Given the description of an element on the screen output the (x, y) to click on. 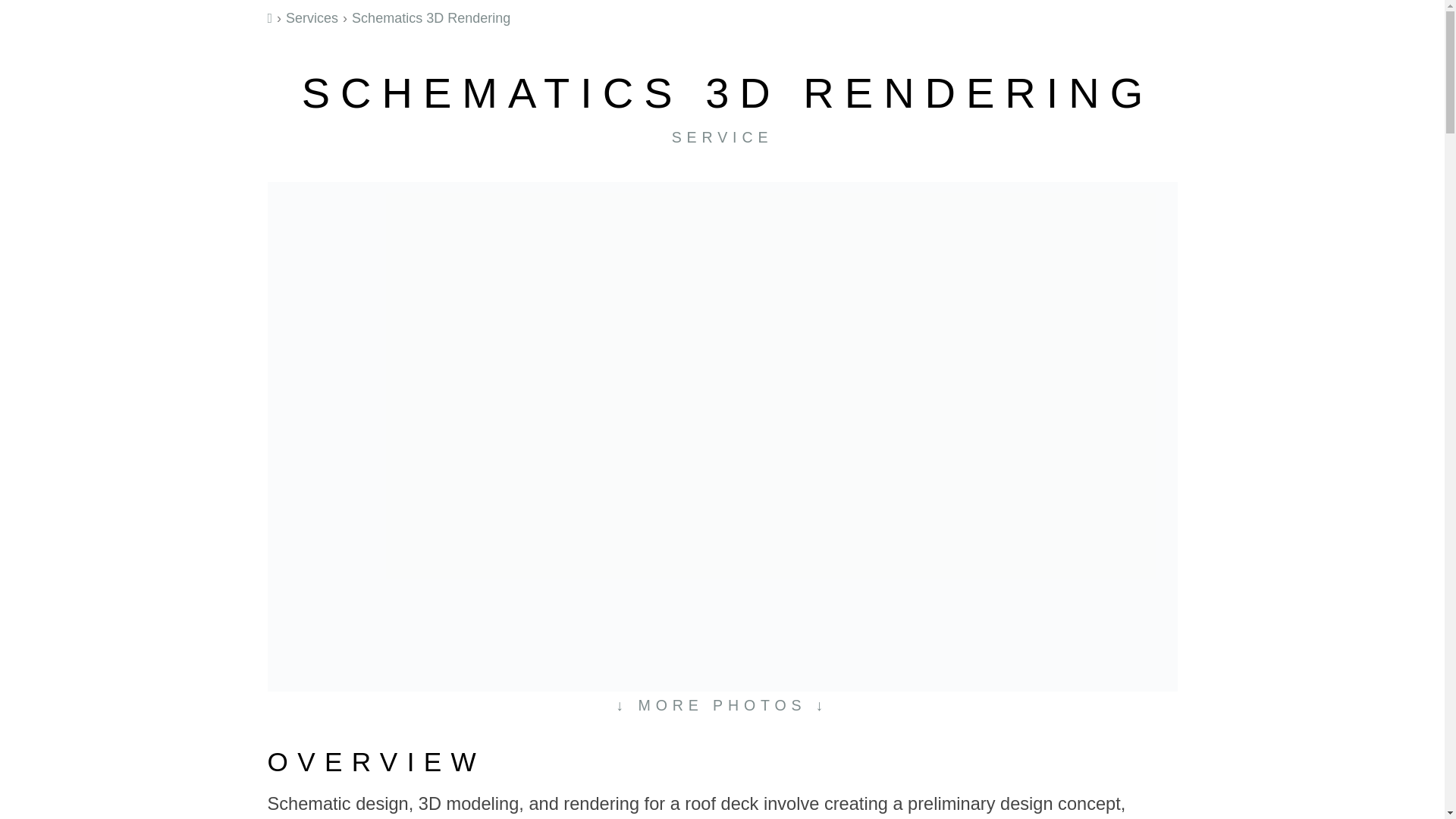
Schematics 3D Rendering (431, 18)
You Are Here (431, 18)
SERVICE (722, 136)
Services (311, 18)
